Given the description of an element on the screen output the (x, y) to click on. 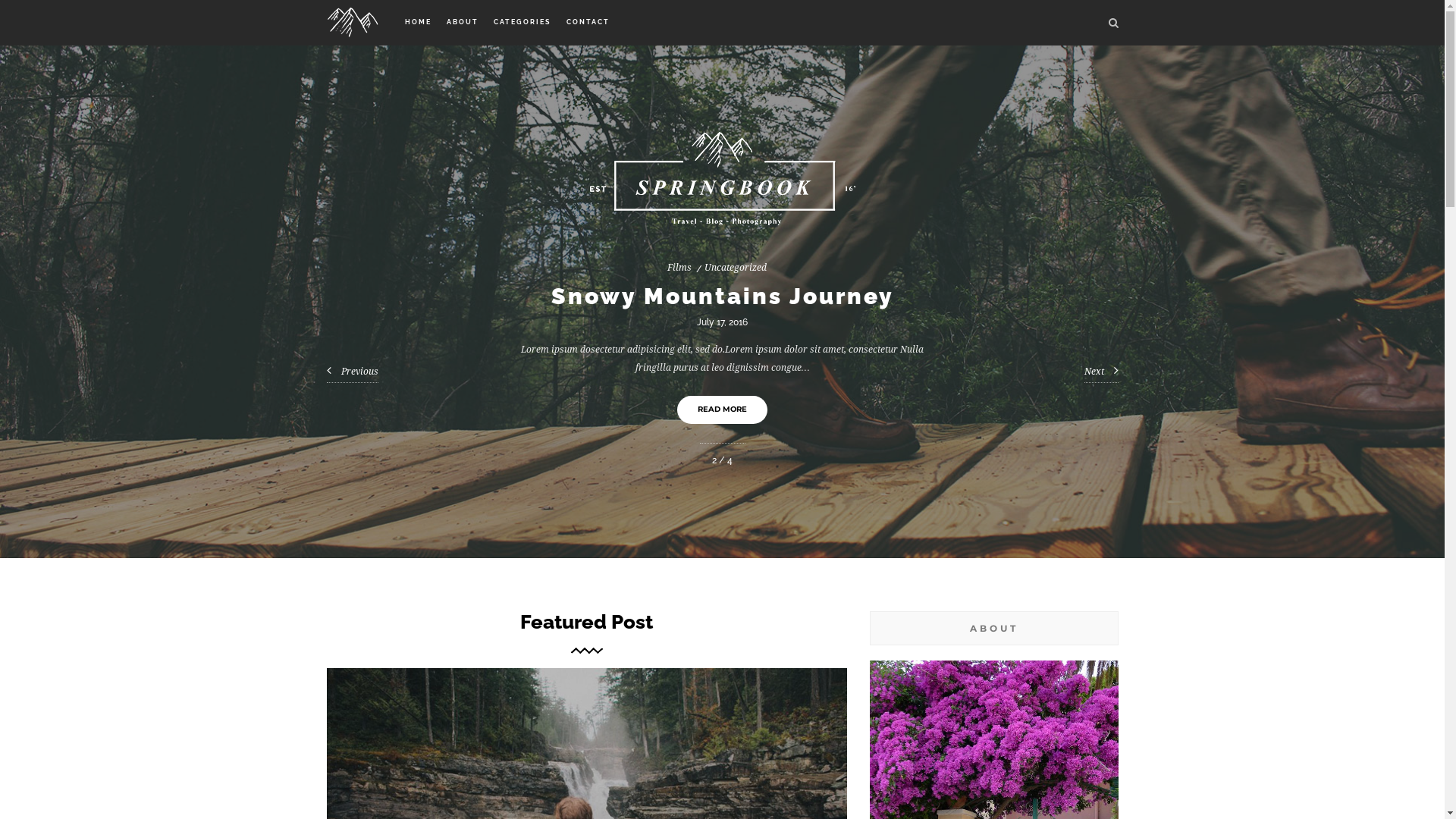
Next Element type: text (1101, 373)
ABOUT Element type: text (462, 21)
Previous Element type: text (351, 373)
Uncategorized Element type: text (743, 267)
Snowy Mountains Journey Element type: text (729, 295)
Films Element type: text (687, 267)
CATEGORIES Element type: text (522, 21)
HOME Element type: text (417, 21)
READ MORE Element type: text (728, 409)
CONTACT Element type: text (587, 21)
